Given the description of an element on the screen output the (x, y) to click on. 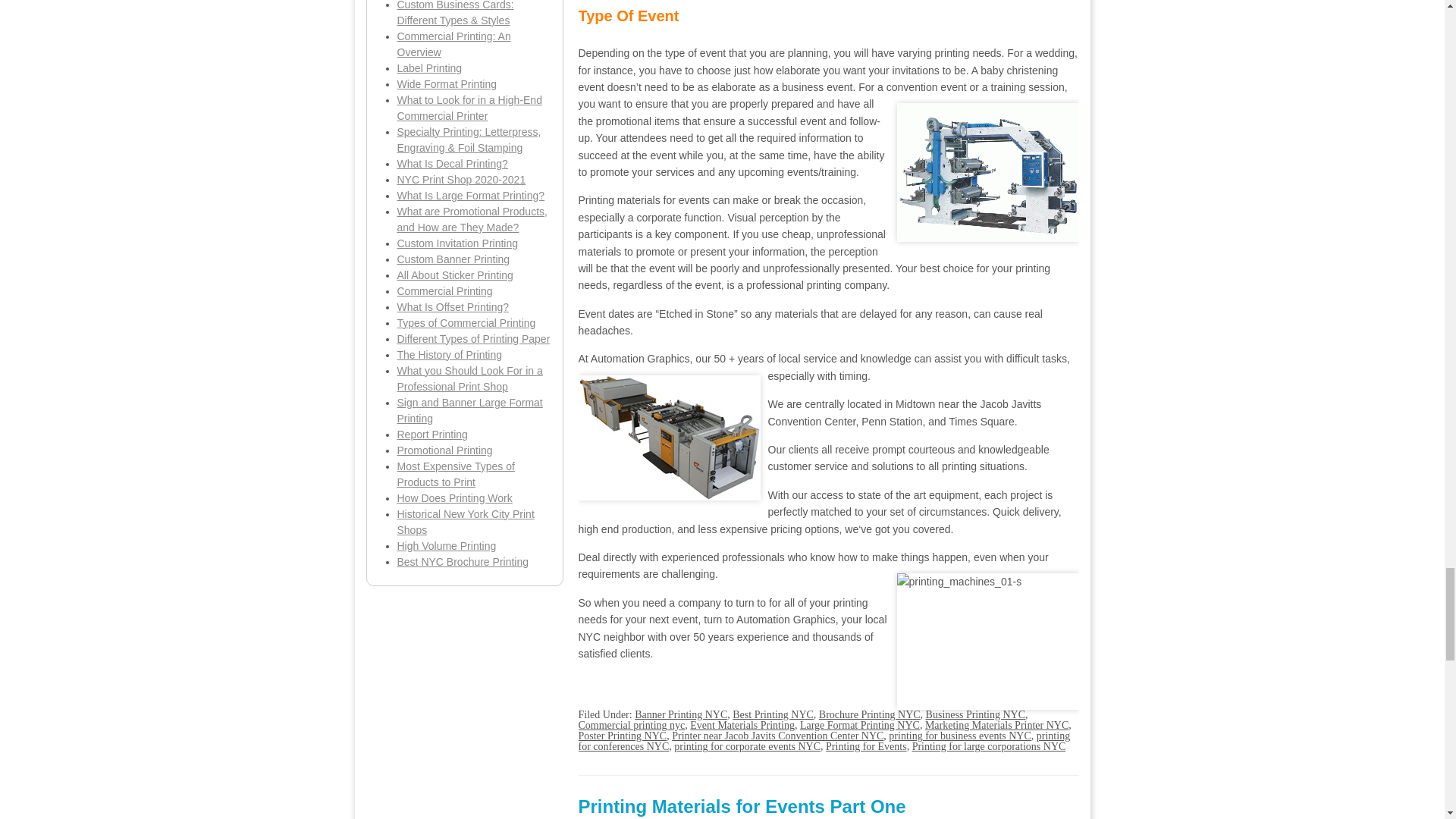
42796 (987, 172)
CylinderPress (669, 437)
Printing Materials for Events Part One (741, 806)
